Given the description of an element on the screen output the (x, y) to click on. 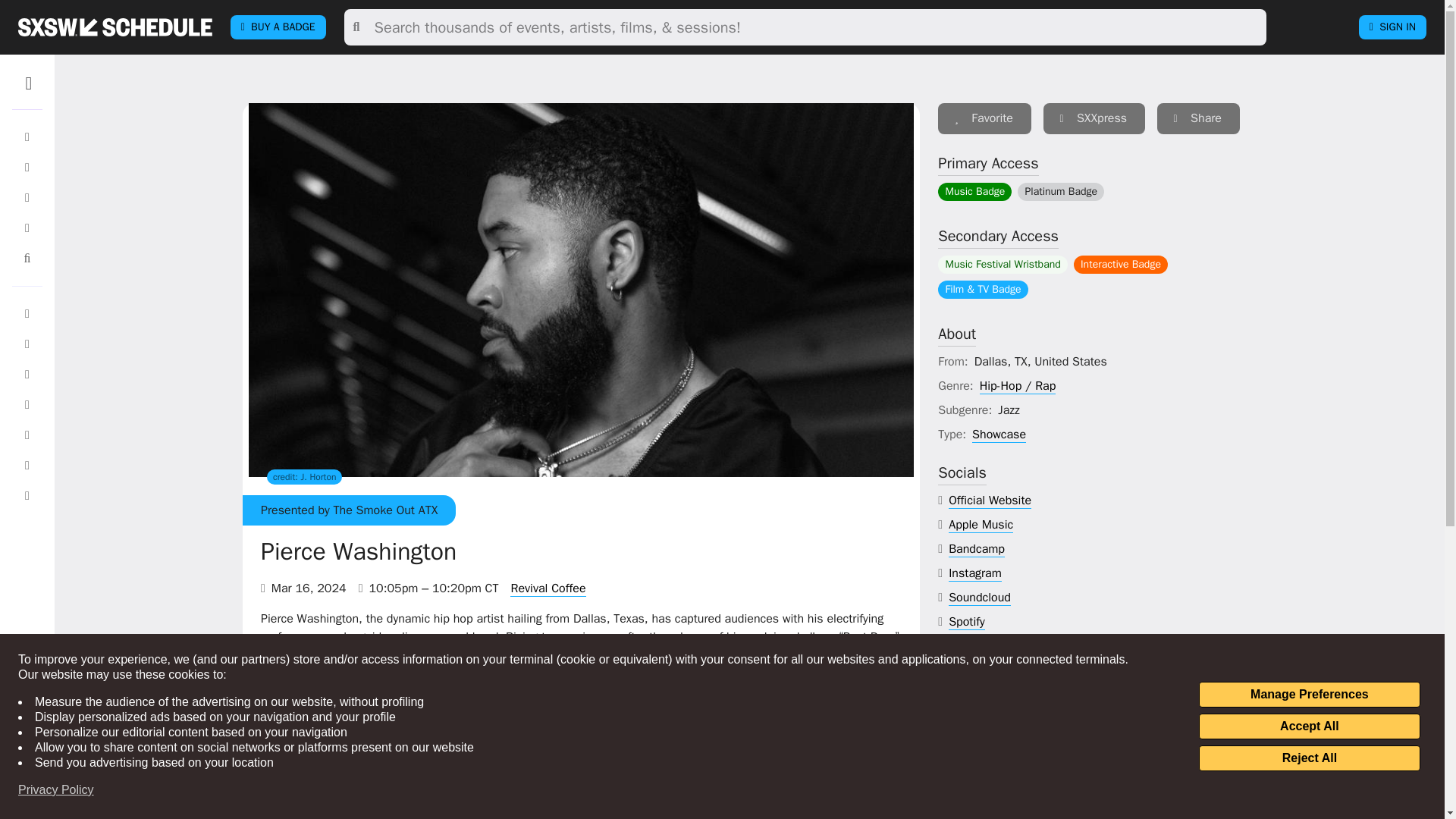
Reject All (1309, 758)
Accept All (1309, 726)
Revival Coffee (548, 588)
apple (981, 524)
Manage Preferences (1309, 694)
instagram (975, 573)
Privacy Policy (55, 789)
SIGN IN (1392, 27)
sxsw SCHEDULE (114, 27)
Sign In to add to your favorites. (983, 118)
